Given the description of an element on the screen output the (x, y) to click on. 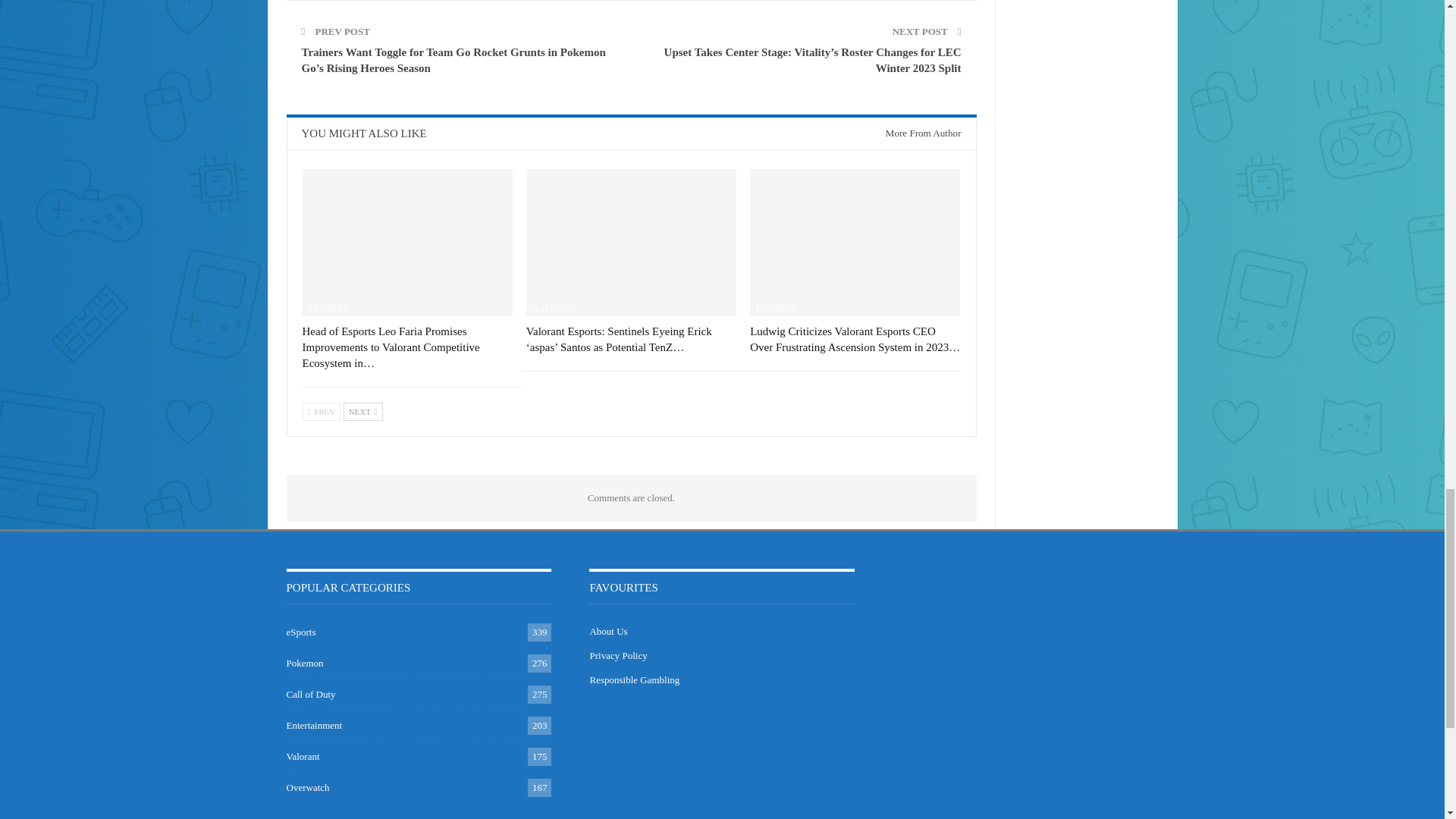
Previous (320, 411)
Next (362, 411)
